Given the description of an element on the screen output the (x, y) to click on. 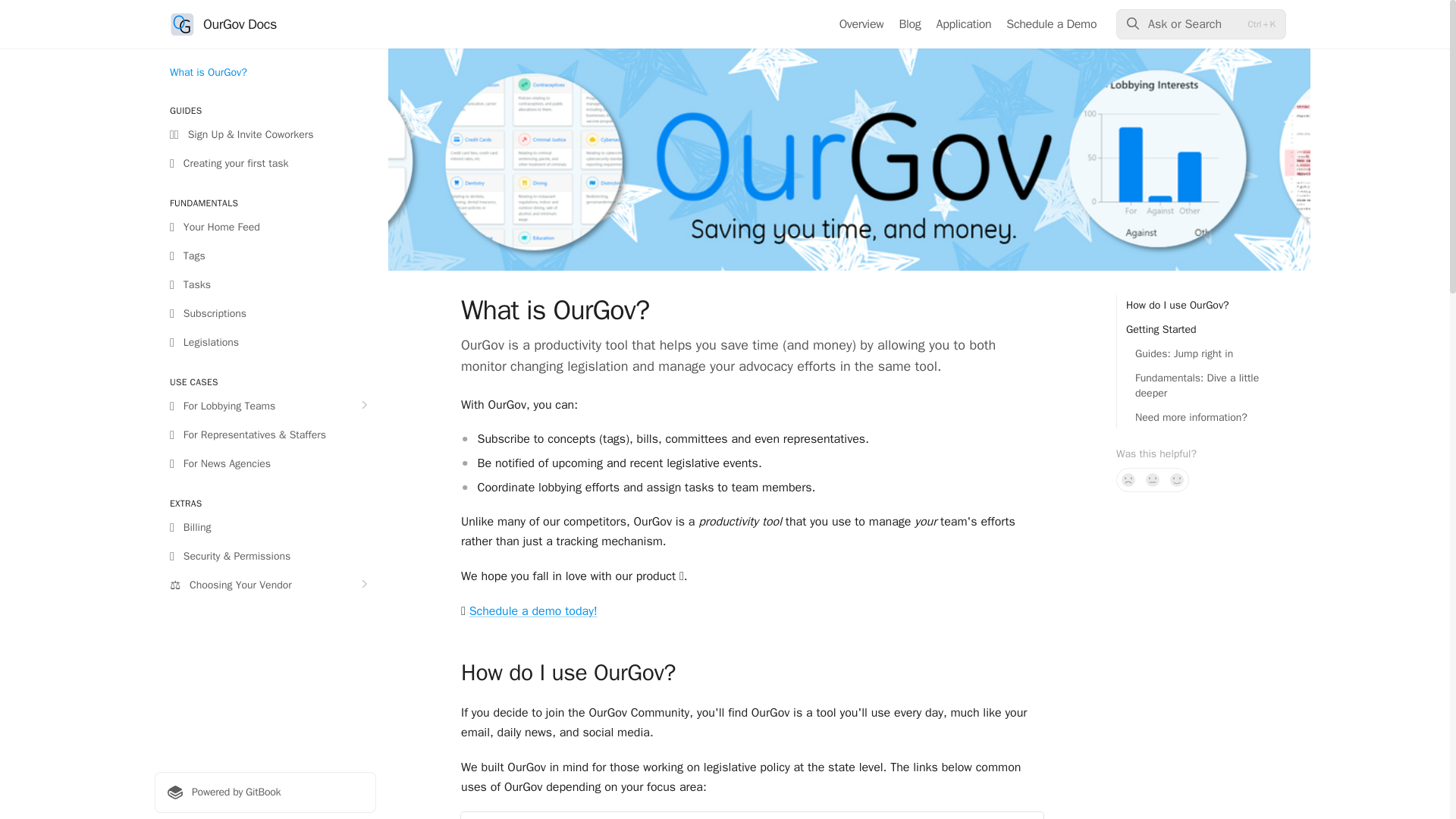
What is OurGov? (264, 72)
OurGov Docs (223, 24)
Overview (860, 24)
Powered by GitBook (264, 792)
Schedule a Demo (1051, 24)
Schedule a demo today! (532, 611)
Yes, it was! (1176, 479)
No (1128, 479)
Application (963, 24)
Not sure (1152, 479)
